Given the description of an element on the screen output the (x, y) to click on. 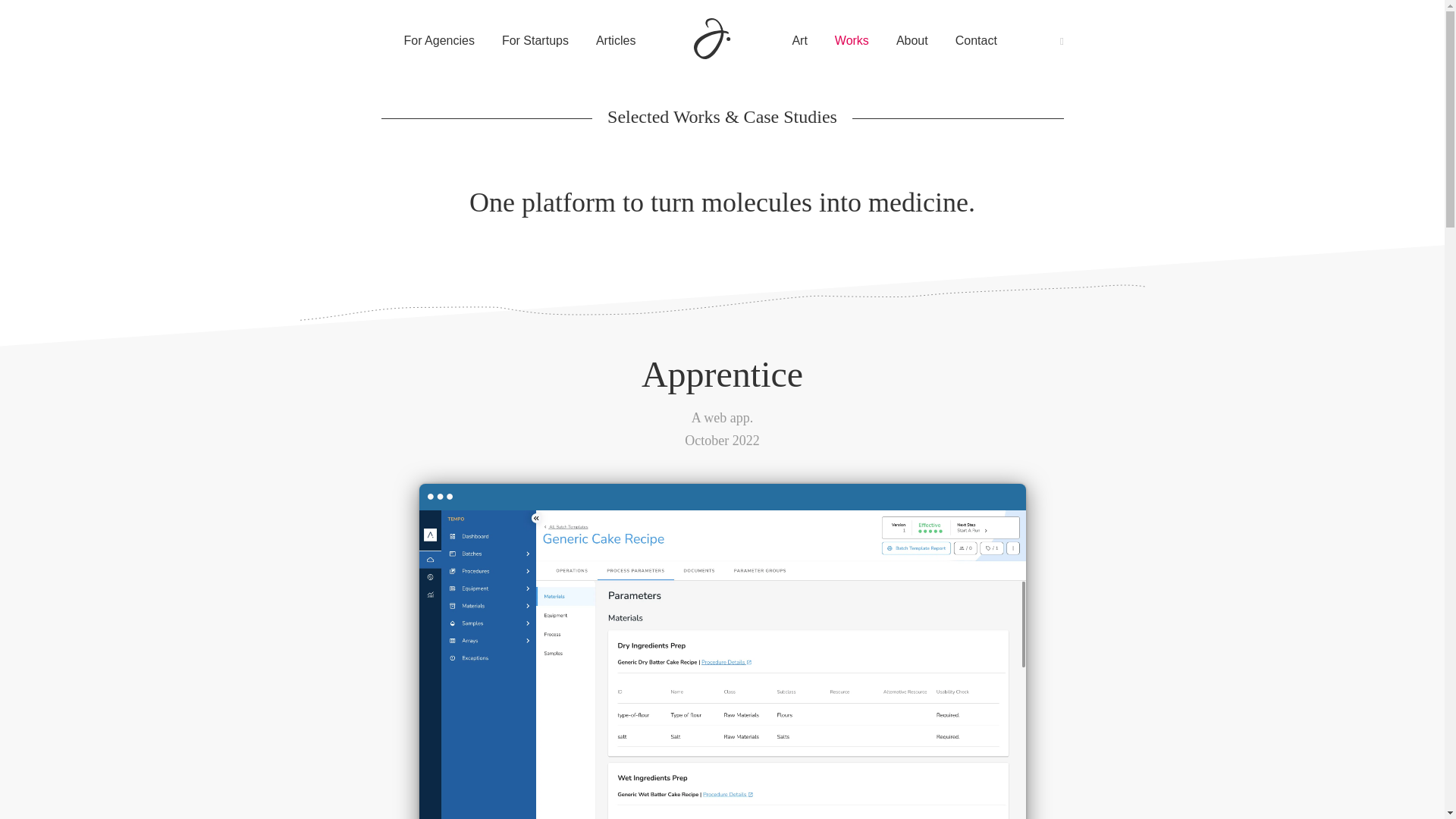
For Startups (535, 40)
About (912, 40)
Works (851, 40)
Articles (614, 40)
Contact (976, 40)
Come to the dark side (1061, 40)
For Agencies (438, 40)
